Given the description of an element on the screen output the (x, y) to click on. 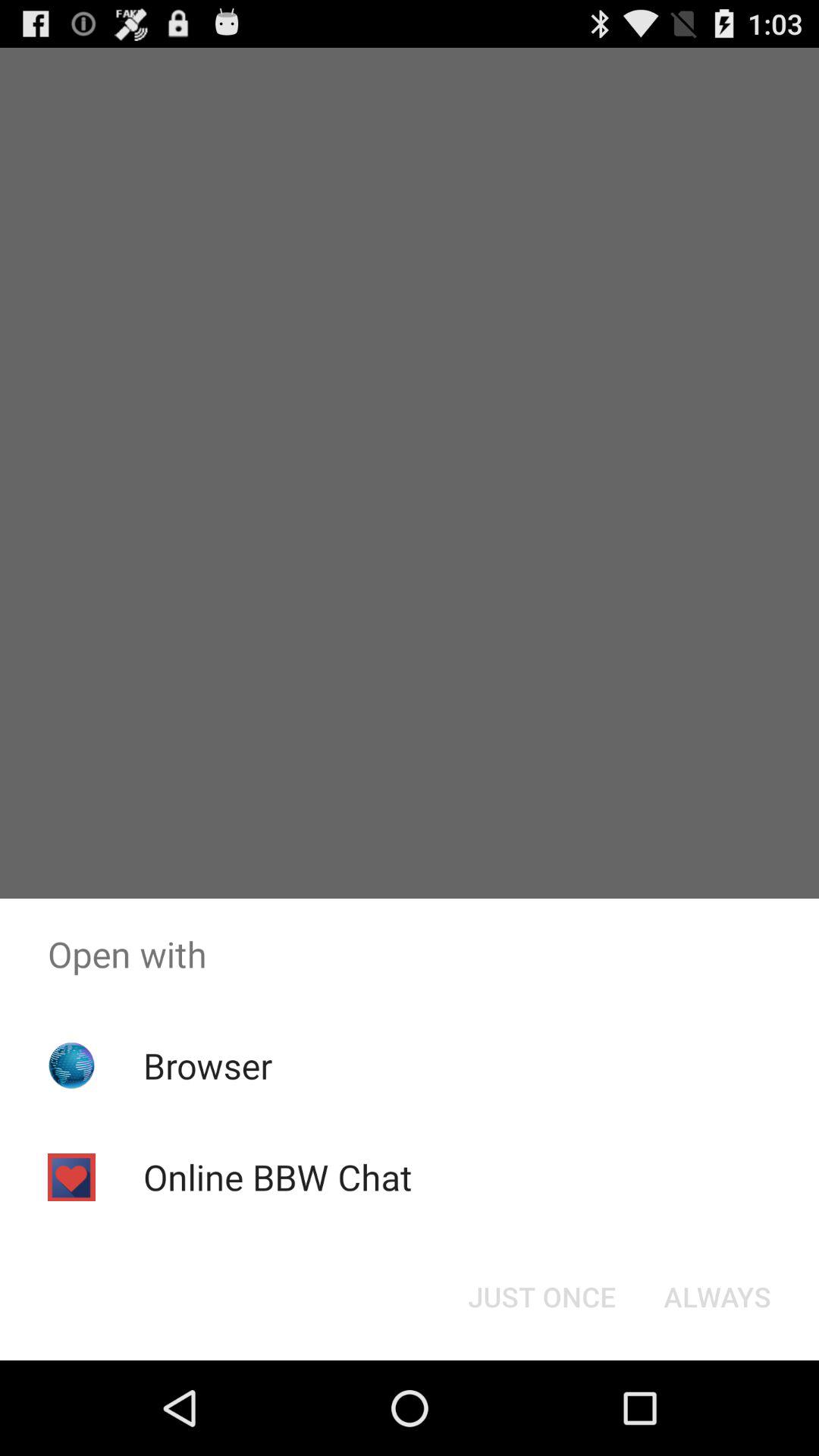
tap the app above online bbw chat icon (207, 1065)
